Given the description of an element on the screen output the (x, y) to click on. 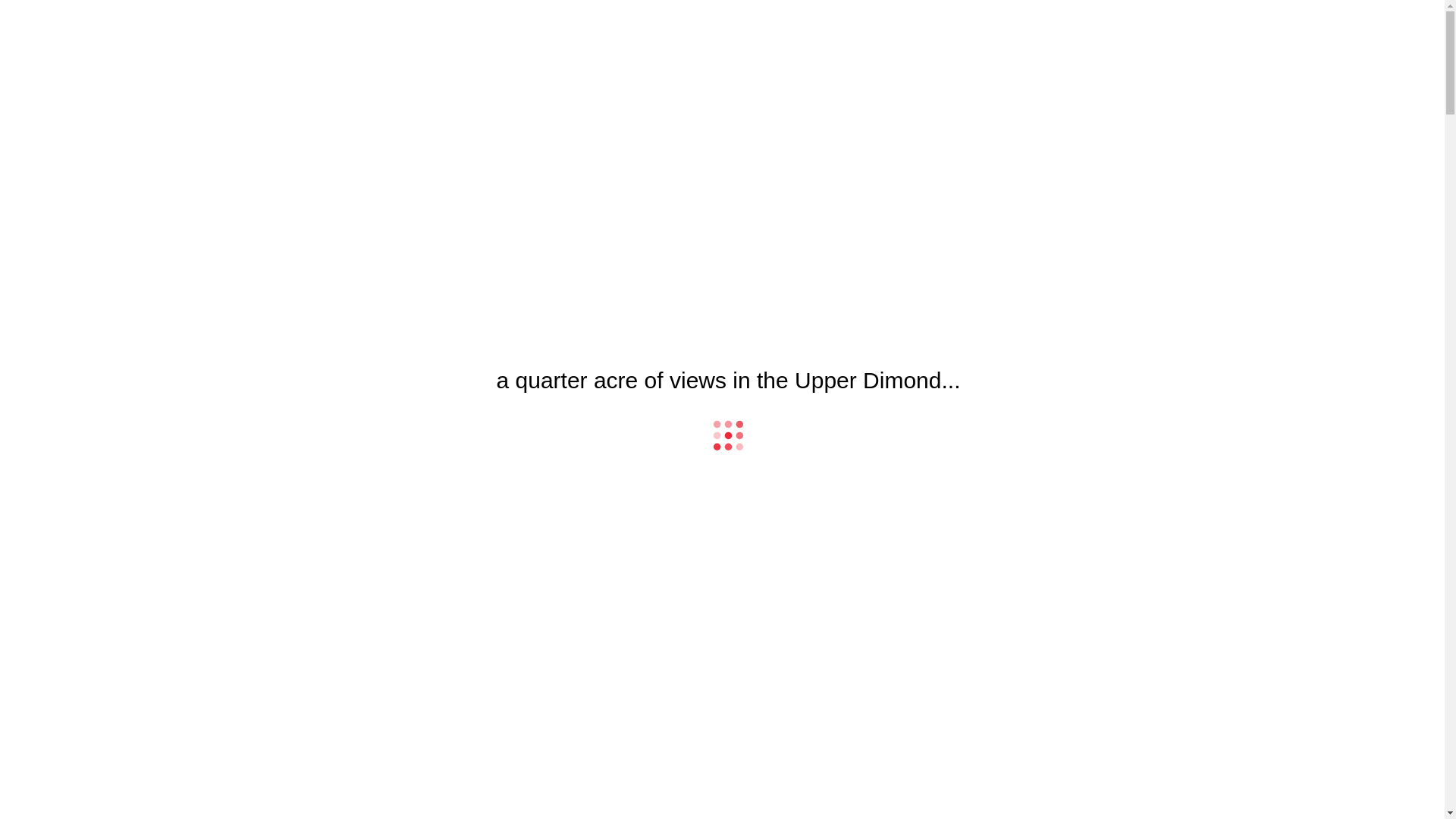
SCHEDULE & CONTACT Element type: text (105, 147)
LOCATION Element type: text (72, 133)
GALLERY Element type: text (70, 78)
Toggle navigation Element type: text (50, 37)
4024 Norton Avenue Element type: text (174, 35)
FEATURES Element type: text (73, 119)
FLOOR PLANS Element type: text (82, 106)
4024 NORTON AVENUE Element type: text (722, 739)
VIDEO TOUR Element type: text (77, 92)
